Given the description of an element on the screen output the (x, y) to click on. 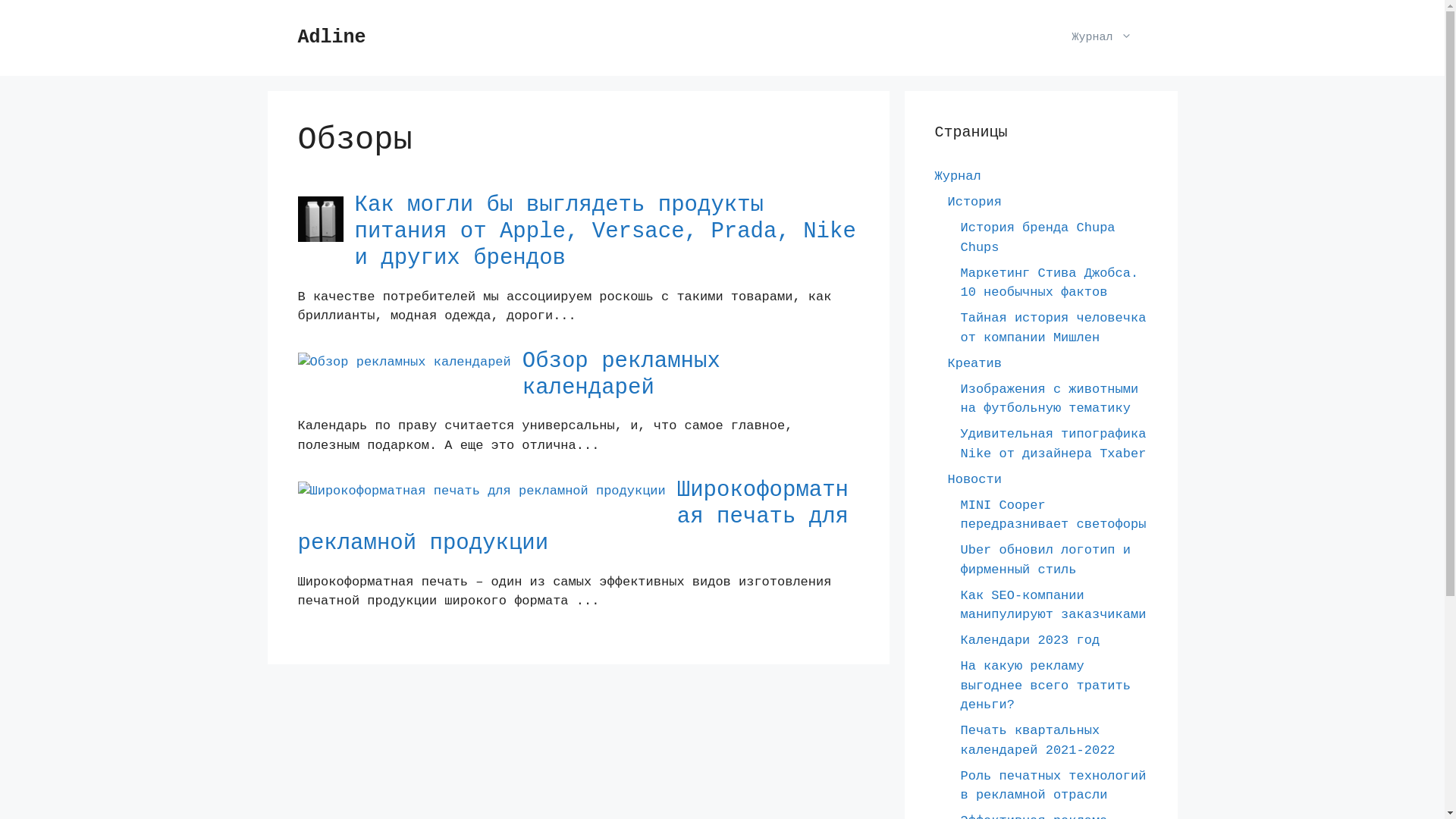
Adline Element type: text (331, 37)
